Given the description of an element on the screen output the (x, y) to click on. 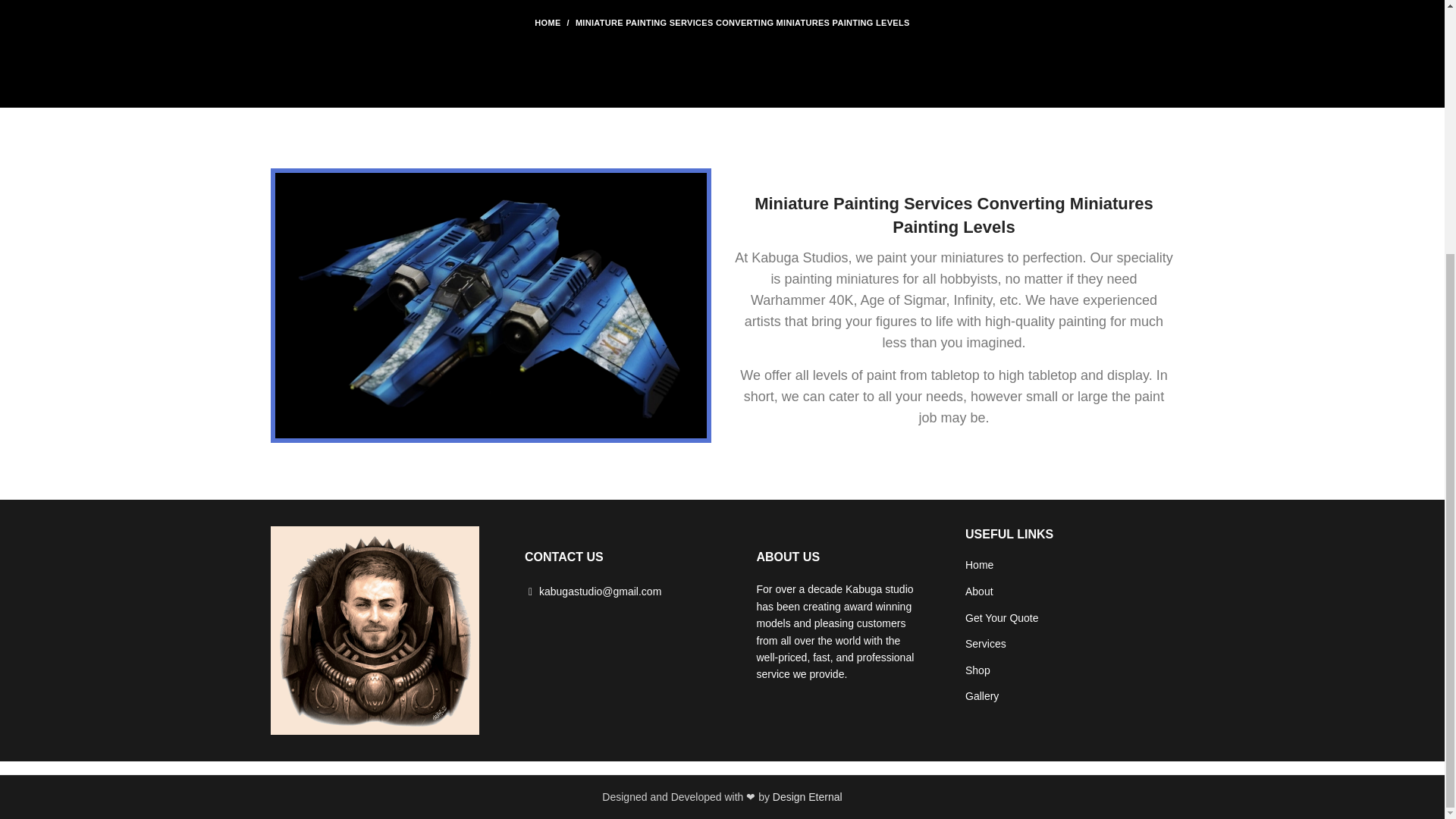
About (979, 591)
Gallery (982, 696)
HOME (554, 22)
Services (986, 644)
Home (979, 565)
Get Your Quote (1003, 618)
Shop (978, 670)
Design Eternal (808, 797)
